Given the description of an element on the screen output the (x, y) to click on. 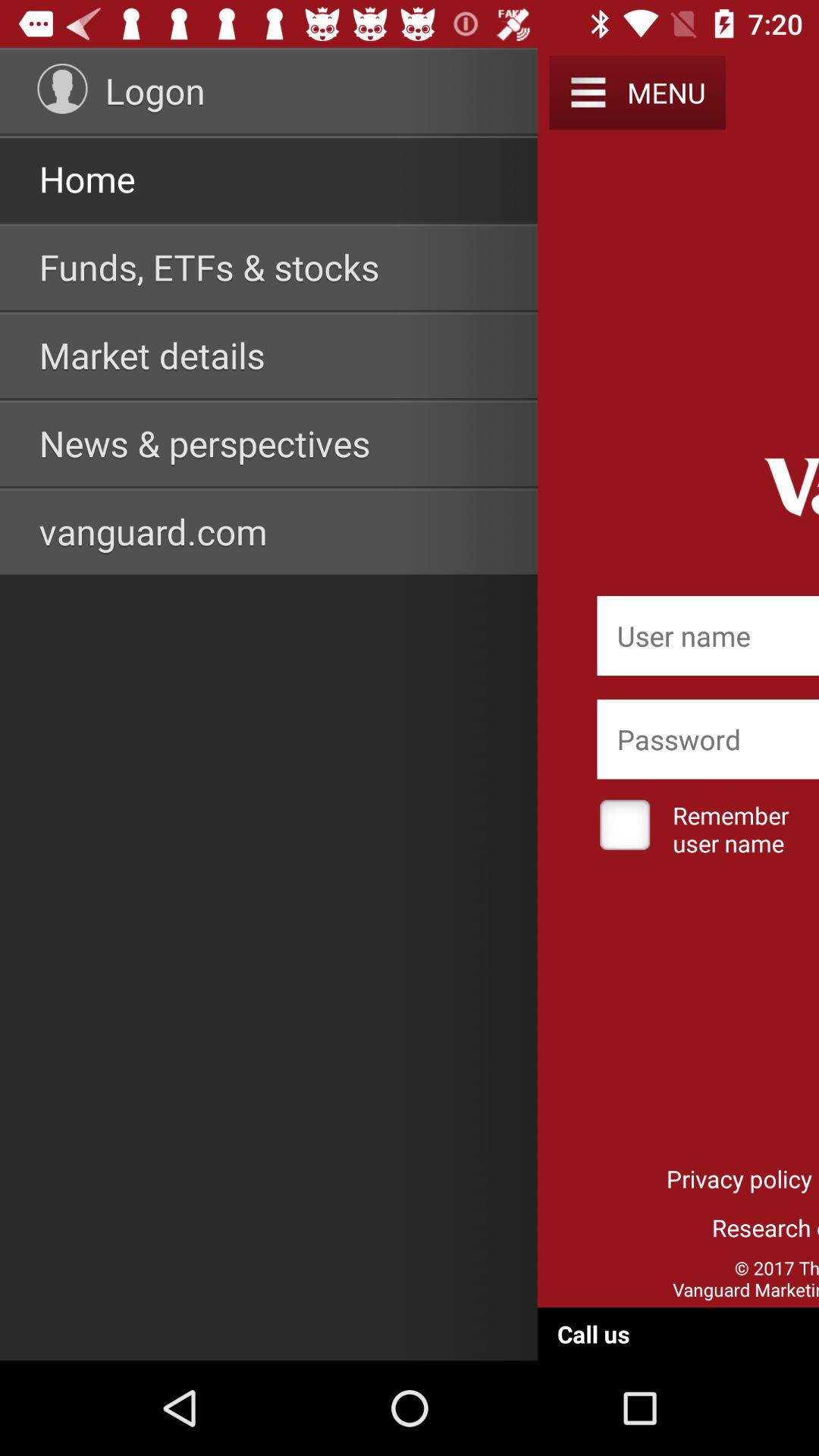
open logon (155, 90)
